Given the description of an element on the screen output the (x, y) to click on. 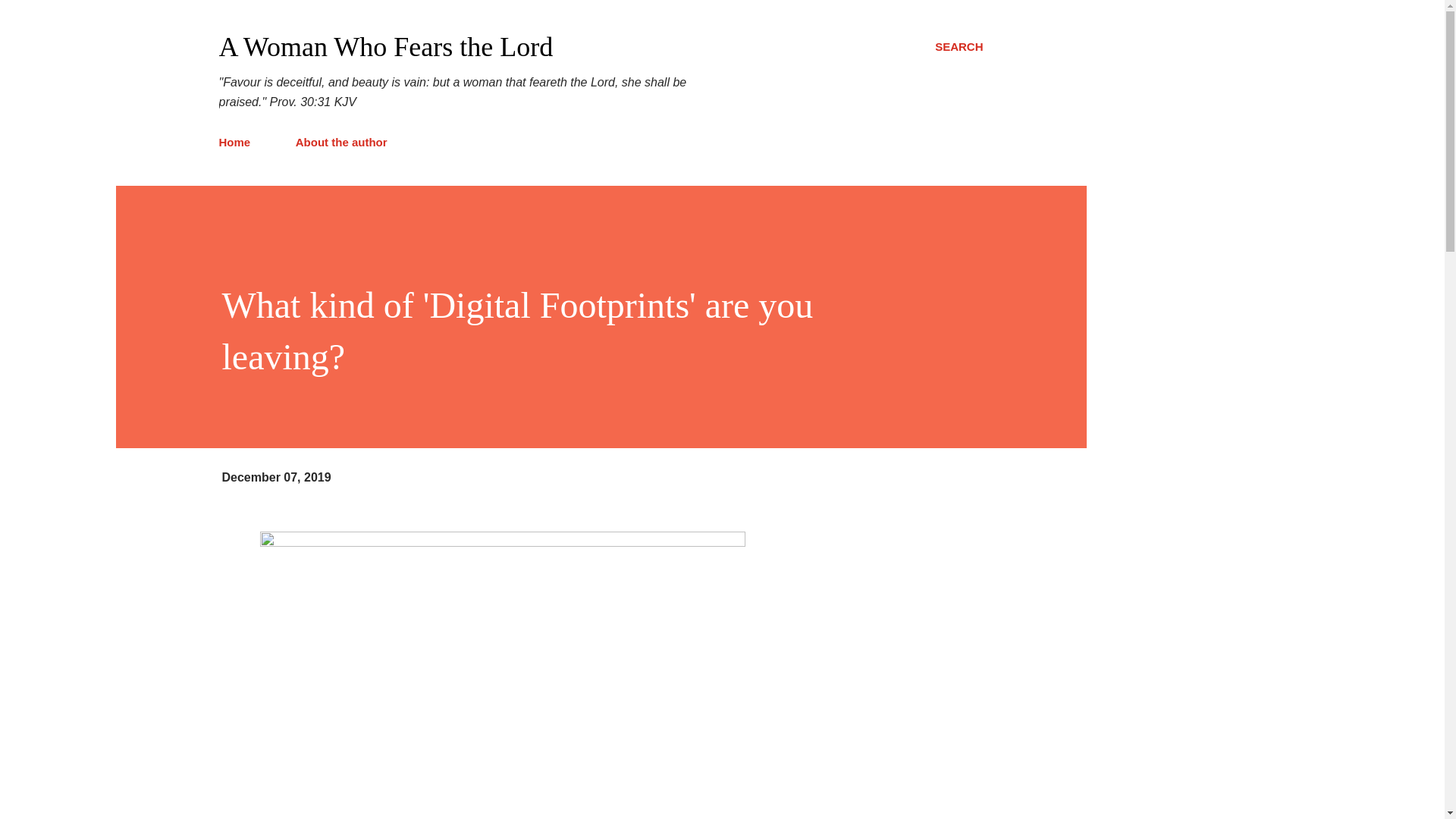
SEARCH (958, 46)
A Woman Who Fears the Lord (385, 46)
Home (238, 142)
December 07, 2019 (275, 477)
permanent link (275, 477)
About the author (341, 142)
